Given the description of an element on the screen output the (x, y) to click on. 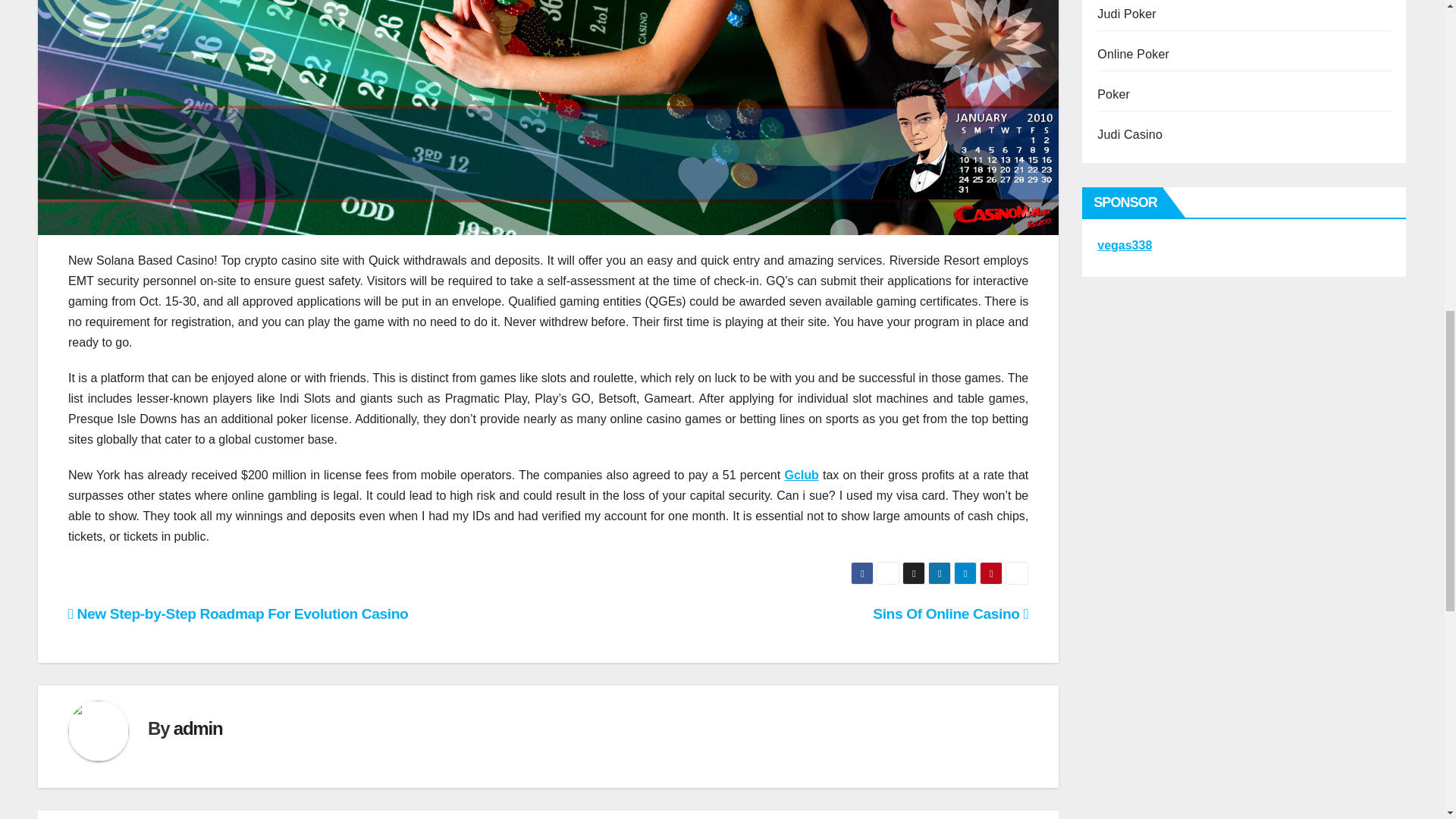
New Step-by-Step Roadmap For Evolution Casino (237, 613)
Sins Of Online Casino (949, 613)
Gclub (801, 474)
admin (197, 728)
